Given the description of an element on the screen output the (x, y) to click on. 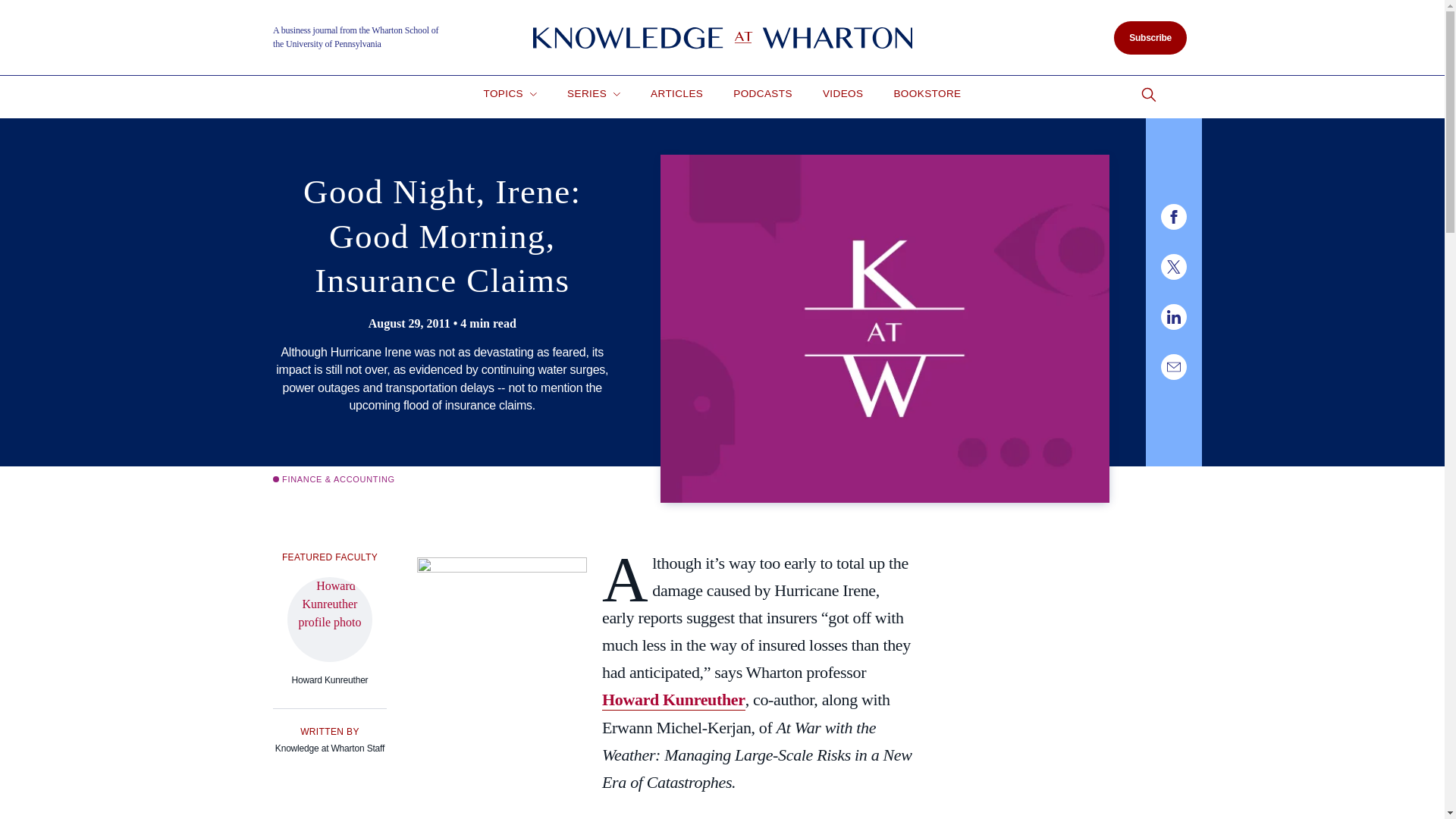
Share this page on Twitter (1173, 266)
Share this page by email (1173, 366)
Subscribe (1149, 37)
Go to site search (1148, 94)
Knowledge at Wharton (721, 37)
Share this page on Facebook (1173, 216)
Share this page on LinkedIn (1173, 316)
